Given the description of an element on the screen output the (x, y) to click on. 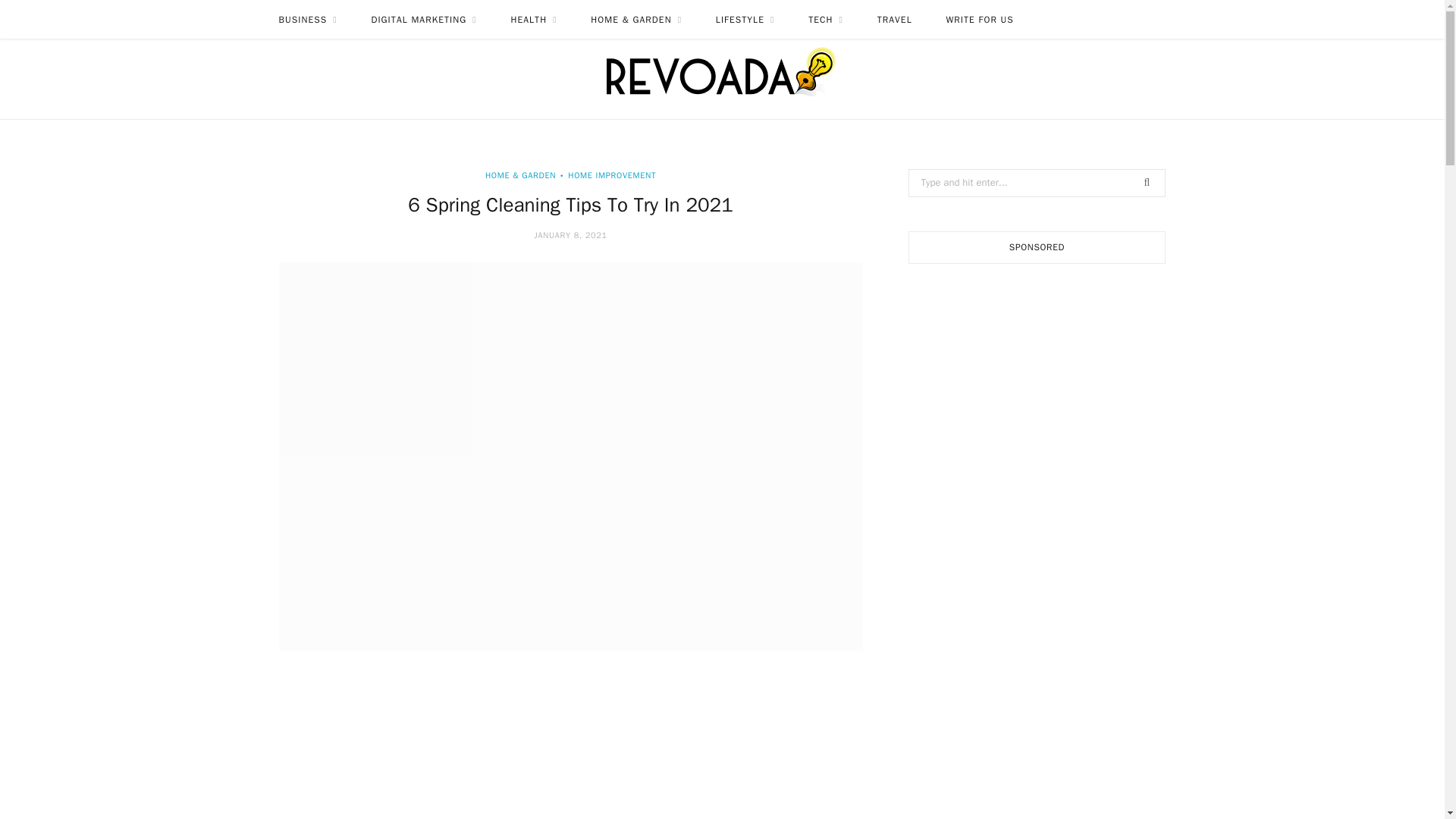
Revoada (722, 67)
TECH (826, 19)
Search for: (1037, 182)
HEALTH (533, 19)
DIGITAL MARKETING (423, 19)
BUSINESS (307, 19)
LIFESTYLE (745, 19)
